Given the description of an element on the screen output the (x, y) to click on. 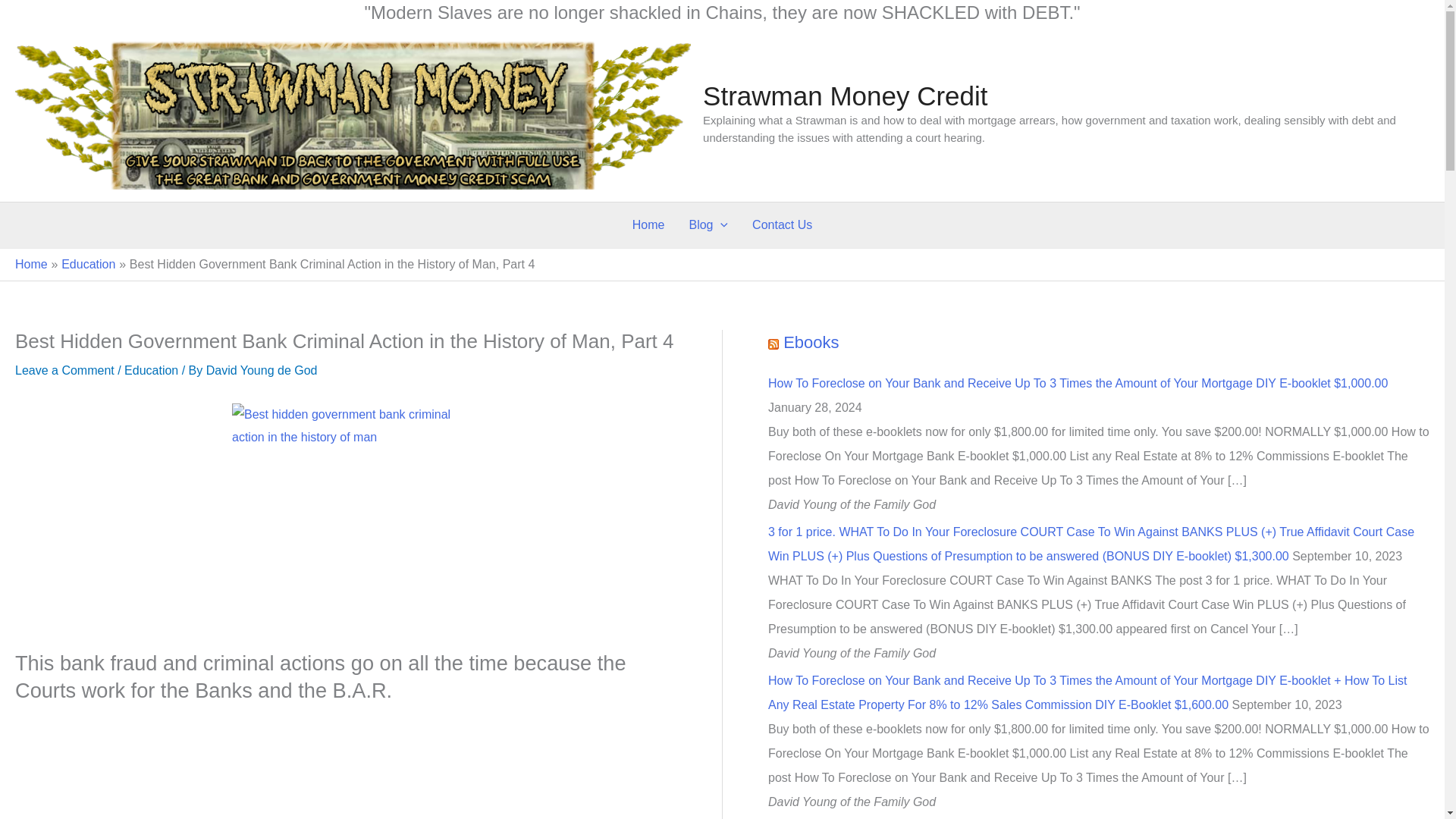
David Young de God (261, 369)
Education (88, 264)
Contact Us (781, 225)
Blog (708, 225)
Ebooks (810, 342)
Home (648, 225)
Leave a Comment (64, 369)
Home (31, 264)
Strawman Money Credit (845, 95)
Education (150, 369)
View all posts by David Young de God (261, 369)
